Given the description of an element on the screen output the (x, y) to click on. 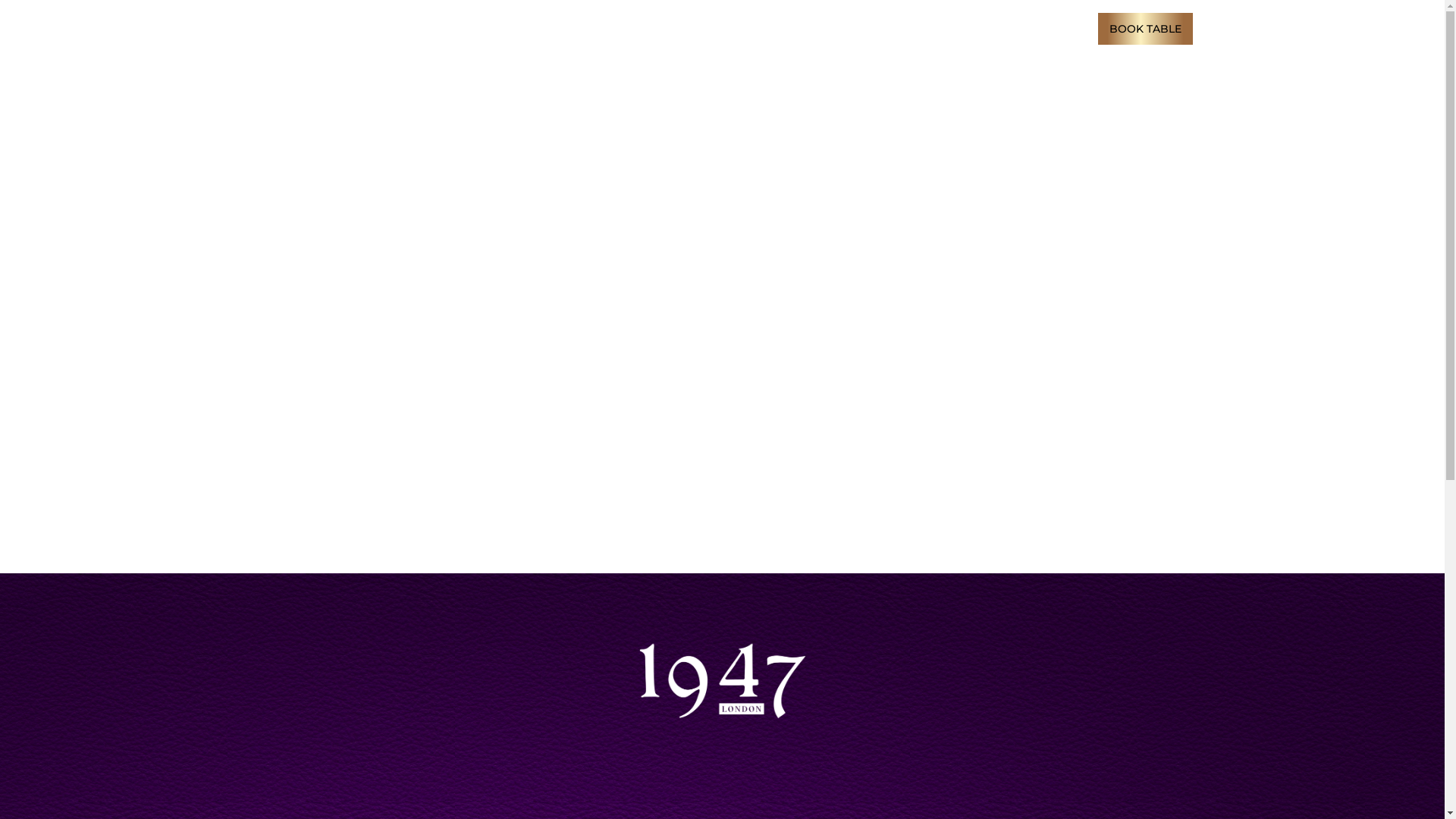
GALLERY Element type: text (872, 27)
ABOUT Element type: text (988, 27)
CONTACT Element type: text (1052, 27)
OCCASIONS Element type: text (797, 27)
PRESS Element type: text (933, 27)
BOOK TABLE Element type: text (1144, 27)
020 7693 6290 Element type: text (425, 28)
MENUS Element type: text (725, 27)
